Given the description of an element on the screen output the (x, y) to click on. 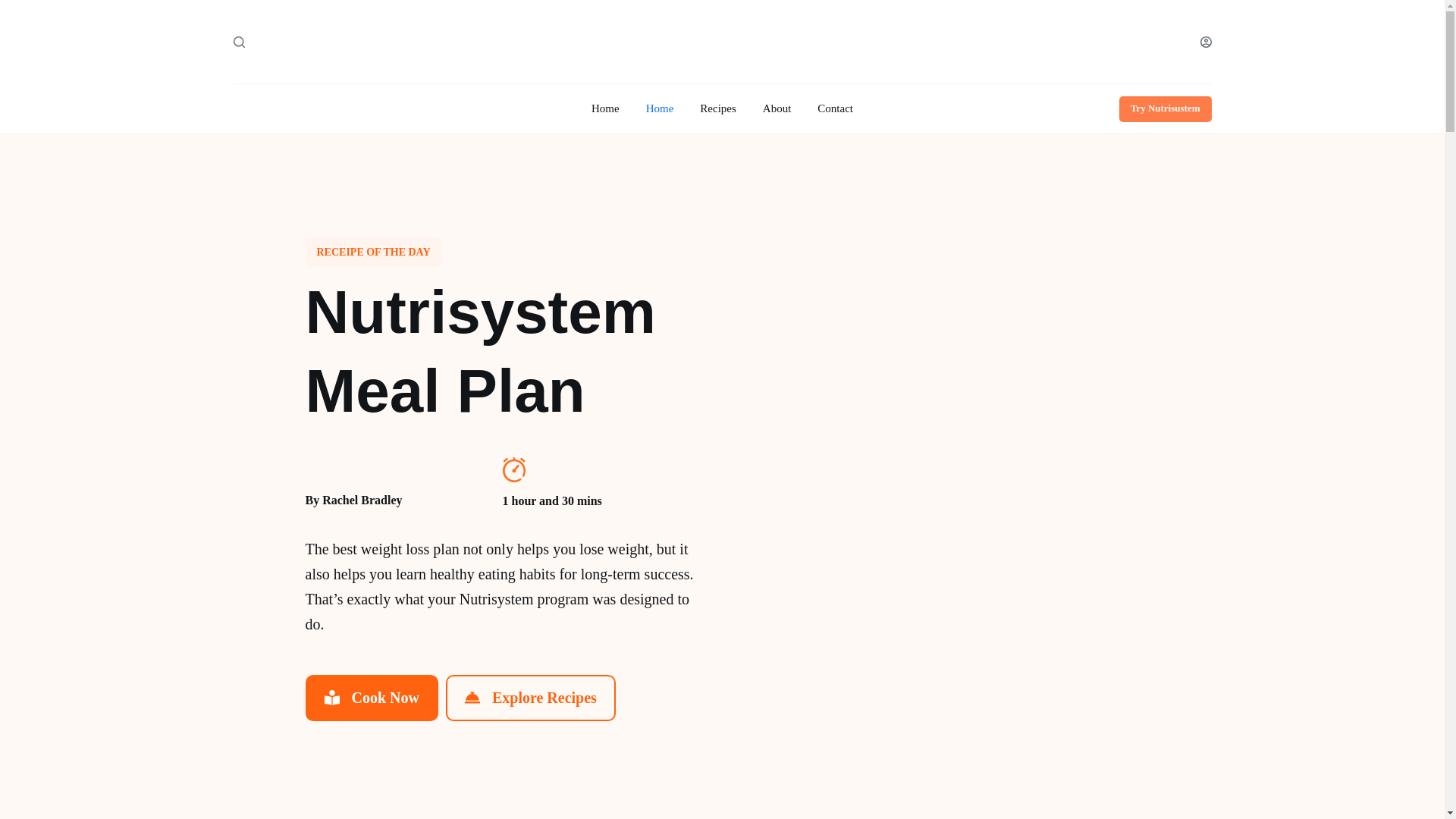
Skip to content (15, 7)
Recipes (718, 108)
About (777, 108)
Home (604, 108)
RECEIPE OF THE DAY (372, 251)
Cook Now (371, 697)
Explore Recipes (530, 697)
Home (659, 108)
Try Nutrisustem (1165, 108)
Contact (835, 108)
